Given the description of an element on the screen output the (x, y) to click on. 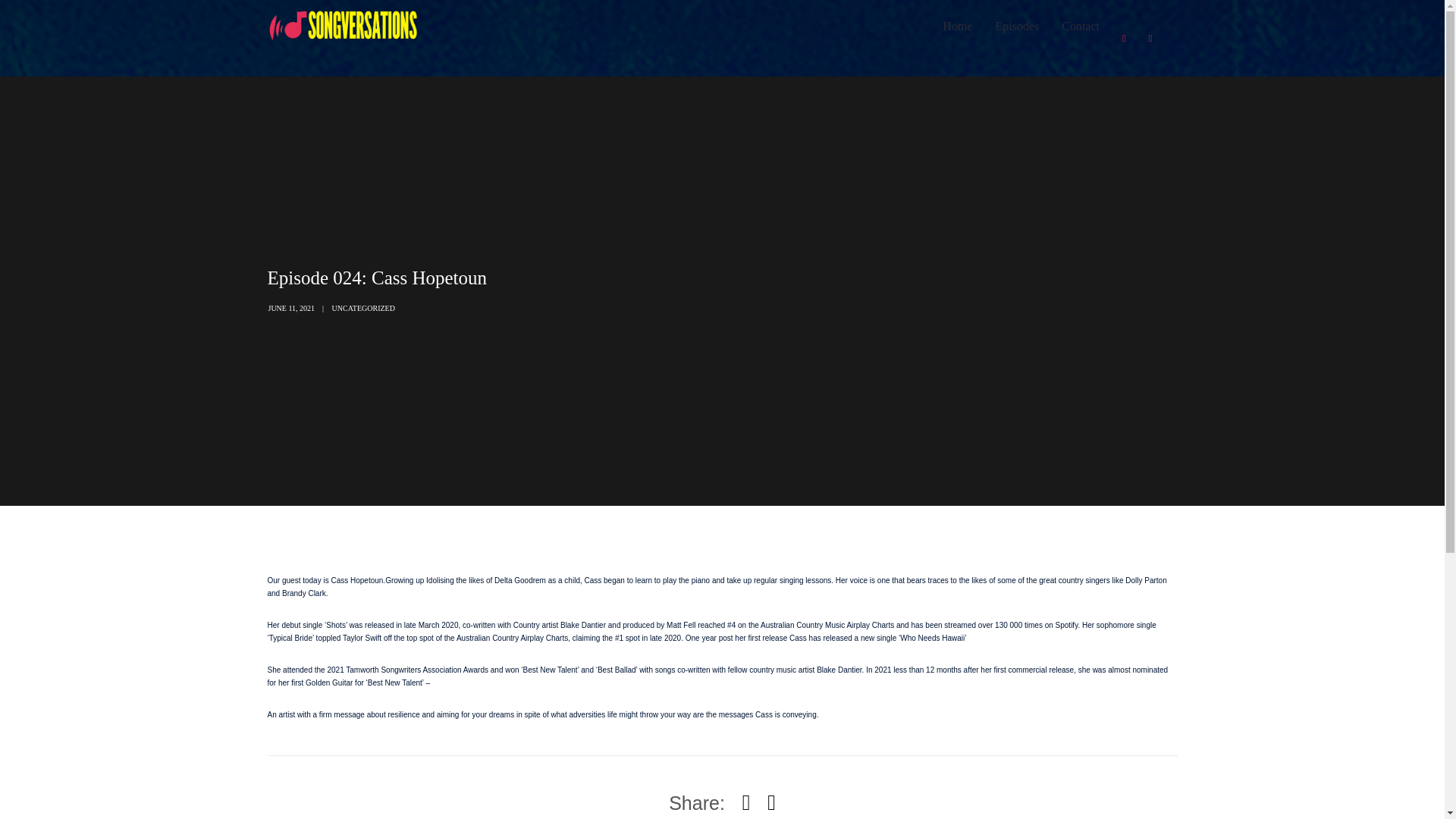
Episodes (1016, 26)
Facebook (1123, 38)
Share on Facebook (746, 802)
Instagram (1150, 38)
UNCATEGORIZED (362, 307)
Share on E-mail (771, 802)
Home (957, 26)
Songversations Podcast Website (342, 25)
Contact (1079, 26)
